Given the description of an element on the screen output the (x, y) to click on. 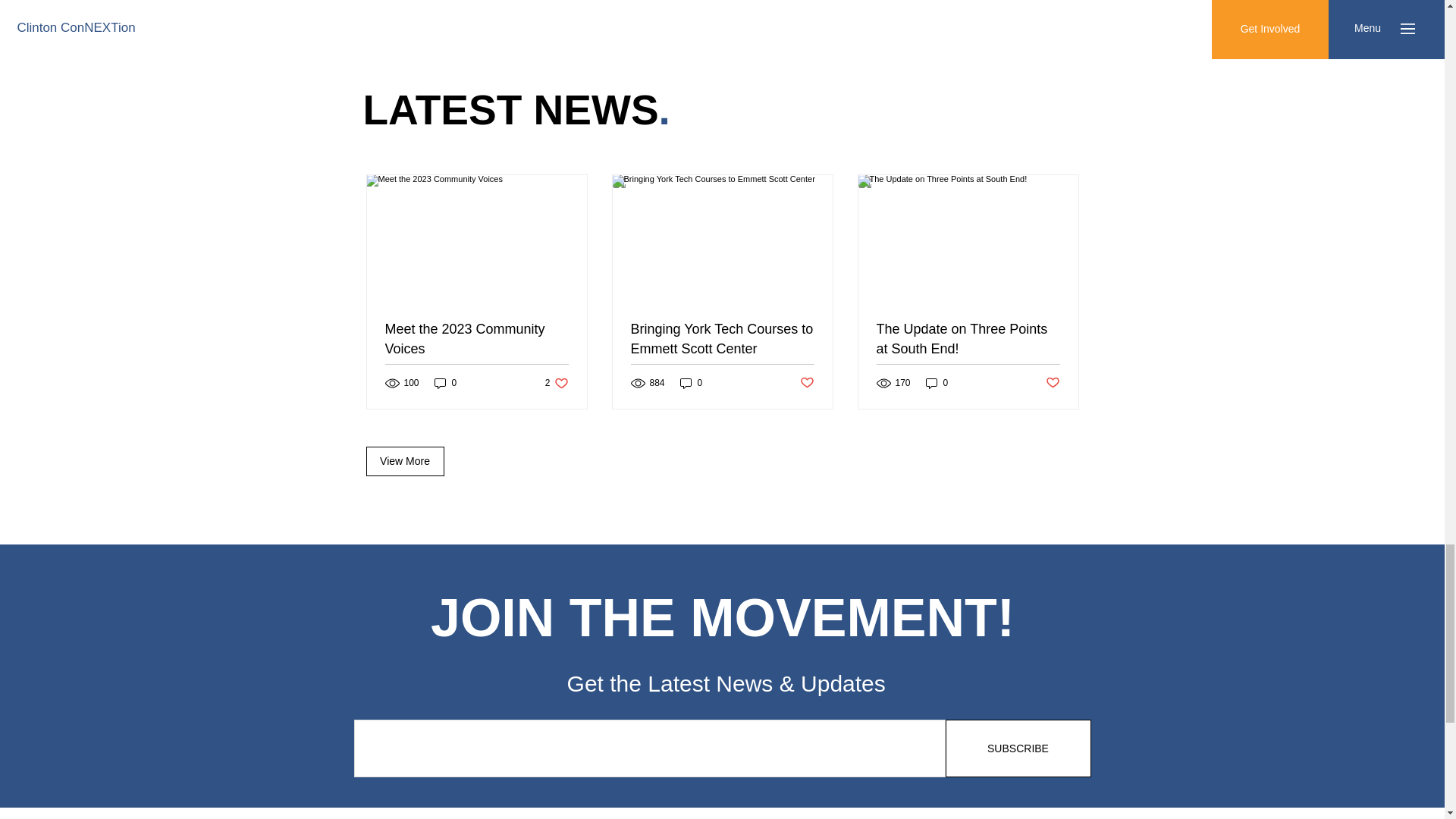
Post not marked as liked (806, 383)
Meet the 2023 Community Voices (477, 338)
The Update on Three Points at South End! (967, 338)
Post not marked as liked (1052, 383)
Bringing York Tech Courses to Emmett Scott Center (721, 338)
SUBSCRIBE (1017, 748)
0 (691, 382)
View More (404, 460)
0 (937, 382)
0 (556, 382)
